Given the description of an element on the screen output the (x, y) to click on. 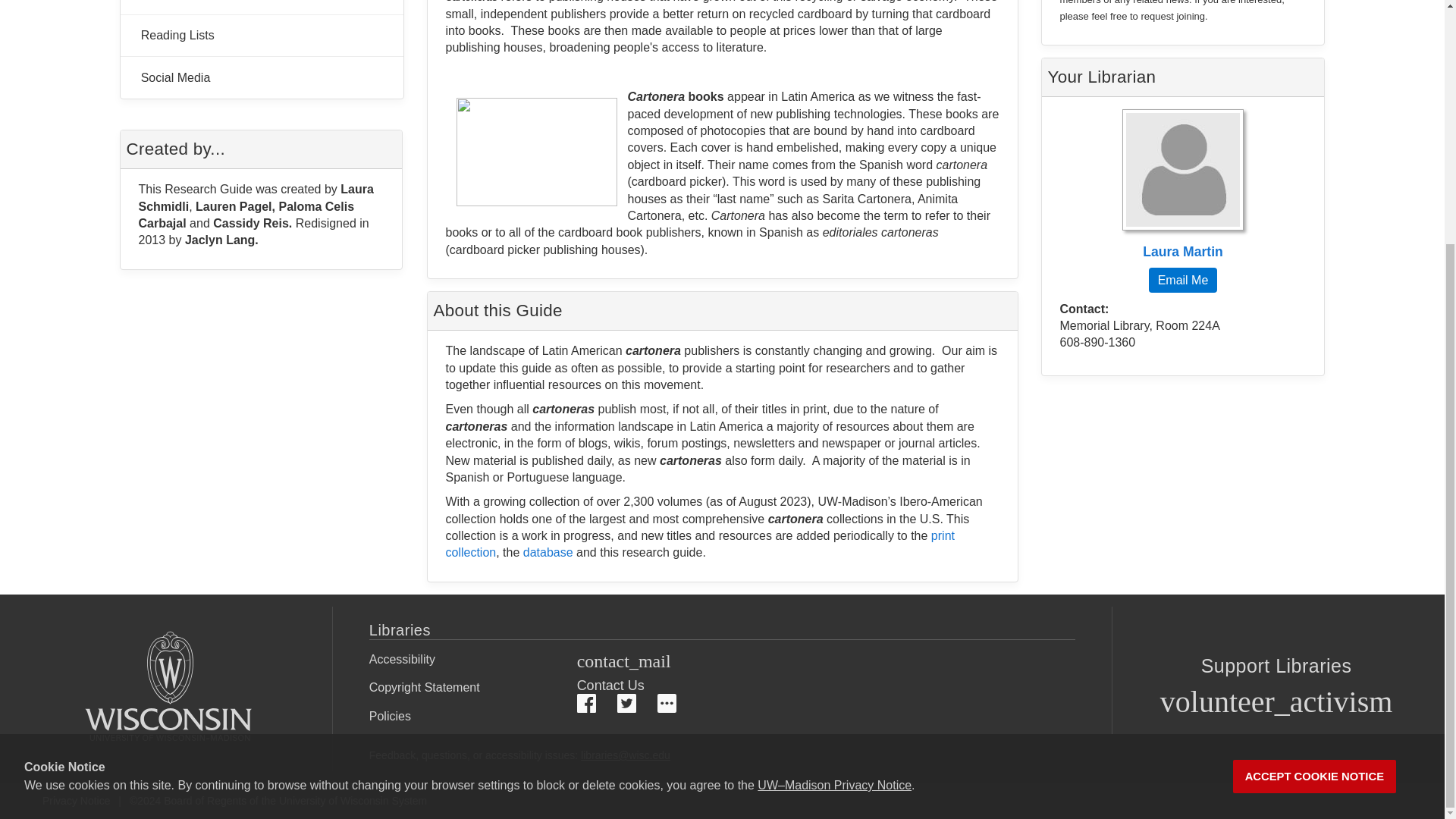
print collection (700, 543)
Laura Martin (1182, 184)
Research Help and Resources (261, 7)
database (547, 552)
ACCEPT COOKIE NOTICE (1314, 437)
Email Me (1181, 279)
Social Media (261, 77)
Reading Lists (261, 35)
The books you cannot do without in your field (261, 35)
